Given the description of an element on the screen output the (x, y) to click on. 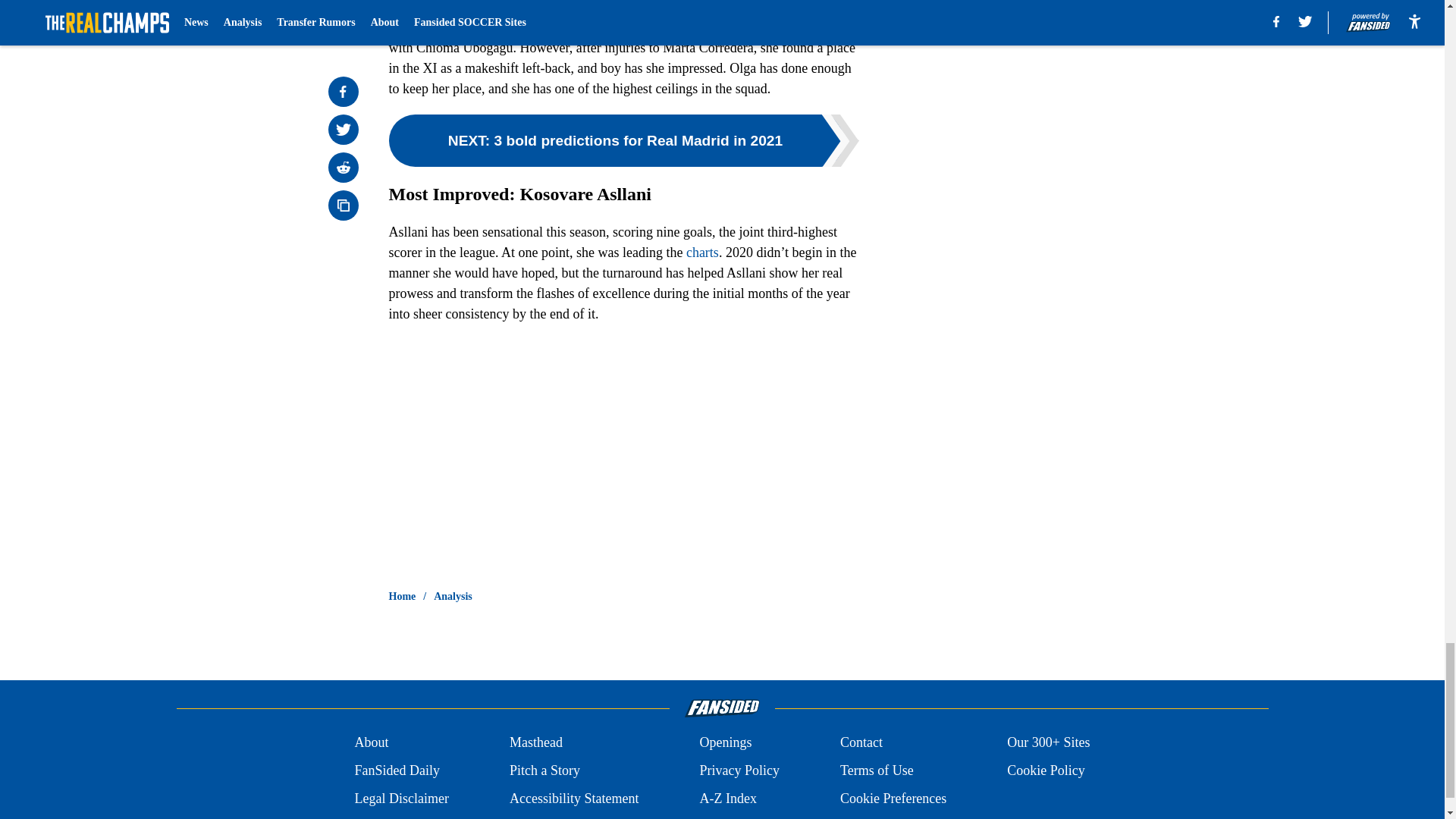
A-Z Index (726, 798)
Openings (724, 742)
Accessibility Statement (574, 798)
NEXT: 3 bold predictions for Real Madrid in 2021 (623, 140)
Home (401, 596)
About (370, 742)
Legal Disclaimer (400, 798)
Masthead (535, 742)
Terms of Use (877, 770)
charts (702, 252)
